Given the description of an element on the screen output the (x, y) to click on. 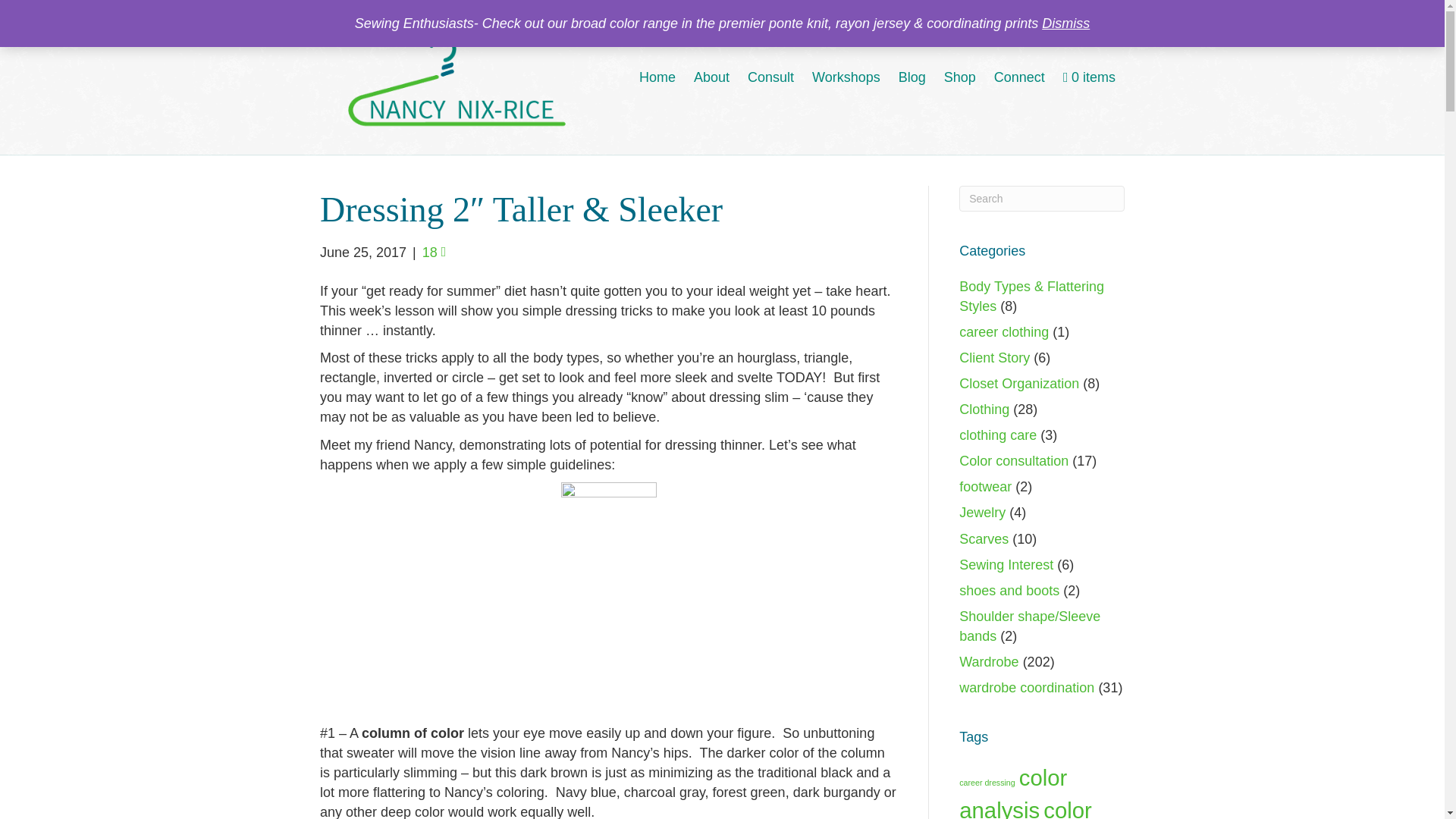
18 (434, 252)
About (711, 77)
Start shopping (1089, 77)
Connect (1019, 77)
0 items (1089, 77)
Home (657, 77)
Type and press Enter to search. (1041, 198)
Blog (911, 77)
Workshops (846, 77)
Consult (770, 77)
